Given the description of an element on the screen output the (x, y) to click on. 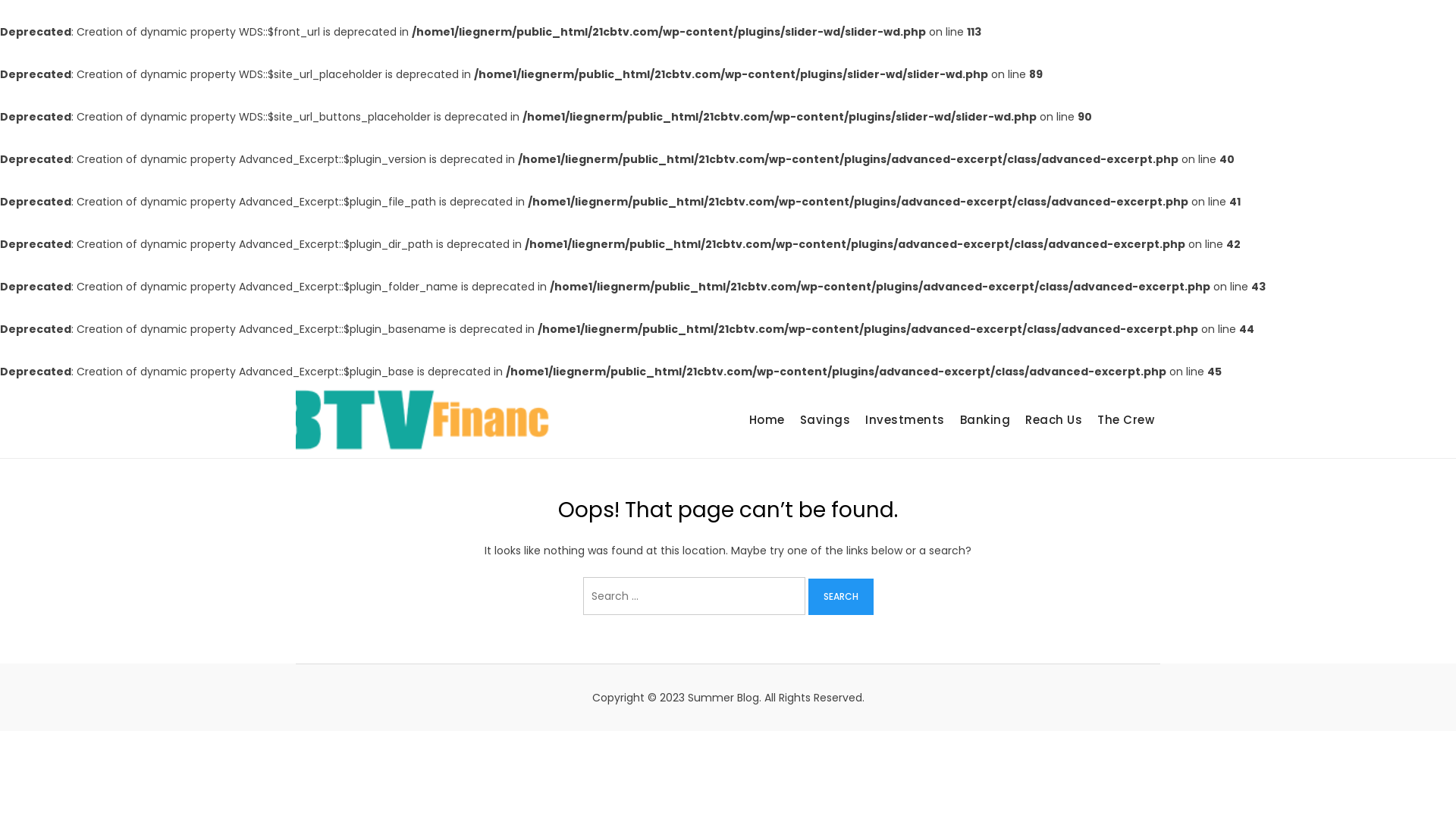
Reach Us Element type: text (1053, 419)
Investments Element type: text (904, 419)
Home Element type: text (766, 419)
The Crew Element type: text (1125, 419)
Banking Element type: text (984, 419)
Search Element type: text (840, 596)
Savings Element type: text (824, 419)
CBTV Finance Inc Element type: text (647, 430)
